Given the description of an element on the screen output the (x, y) to click on. 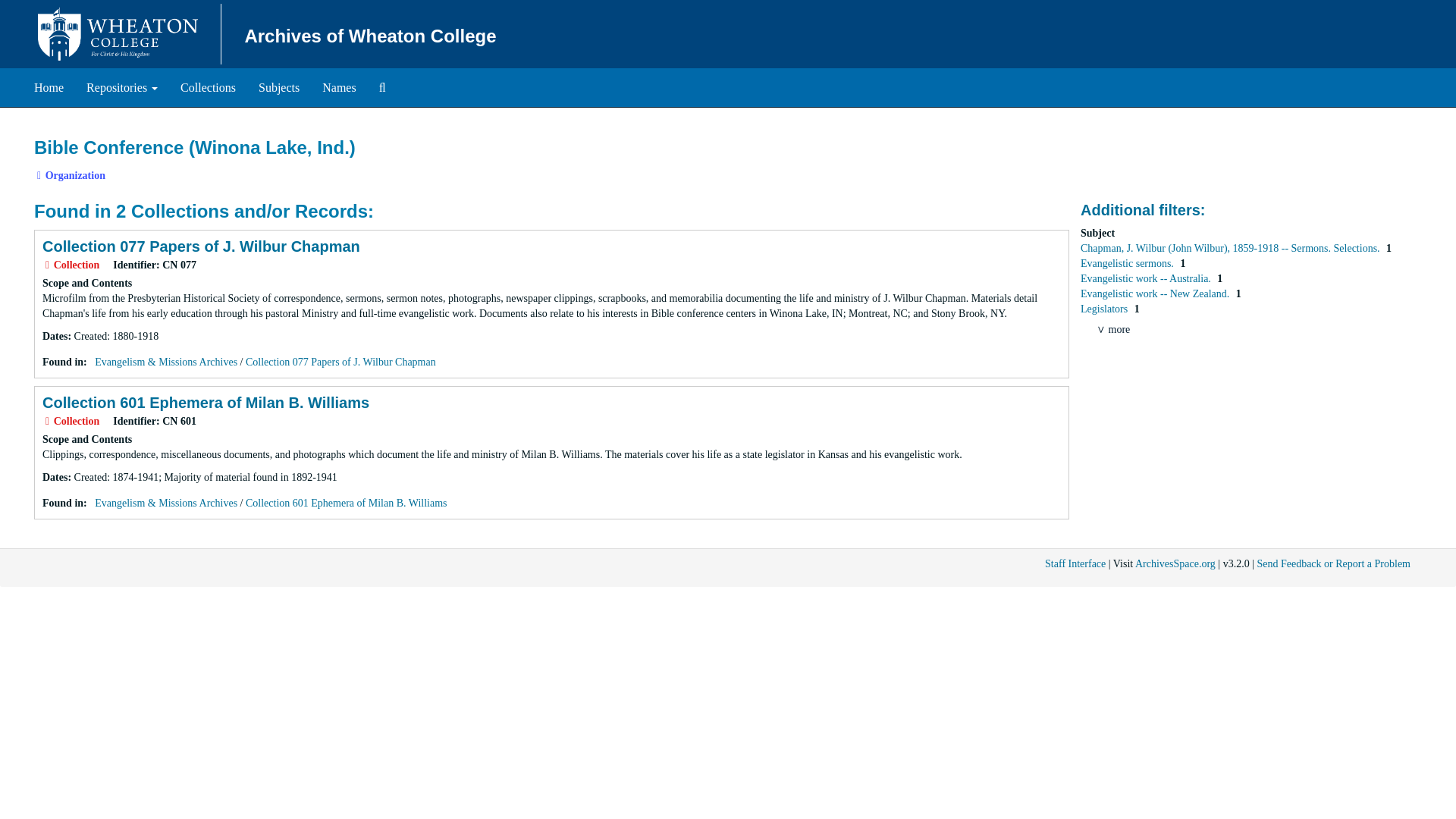
translation missing: en.dates (54, 336)
Legislators (1105, 308)
Page Actions (1139, 130)
Filter By 'Evangelistic sermons.' (1128, 263)
Evangelistic work -- New Zealand. (1155, 293)
Collection 077 Papers of J. Wilbur Chapman (340, 361)
Collections (207, 87)
Filter By 'Evangelistic work -- Australia.' (1146, 278)
Evangelistic work -- Australia. (1146, 278)
Collection 601 Ephemera of Milan B. Williams (205, 402)
